Given the description of an element on the screen output the (x, y) to click on. 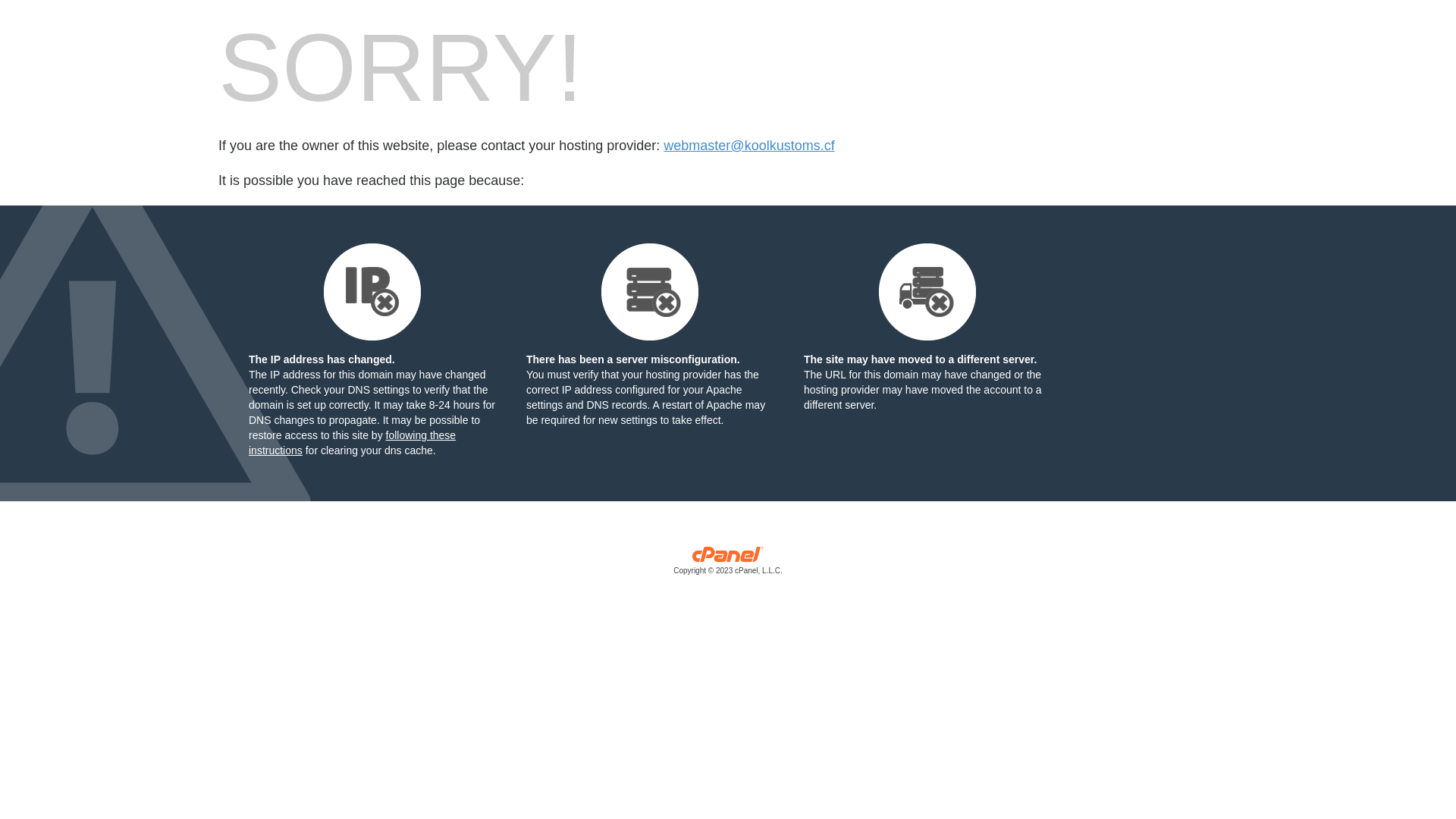
following these instructions Element type: text (351, 442)
webmaster@koolkustoms.cf Element type: text (748, 145)
